Given the description of an element on the screen output the (x, y) to click on. 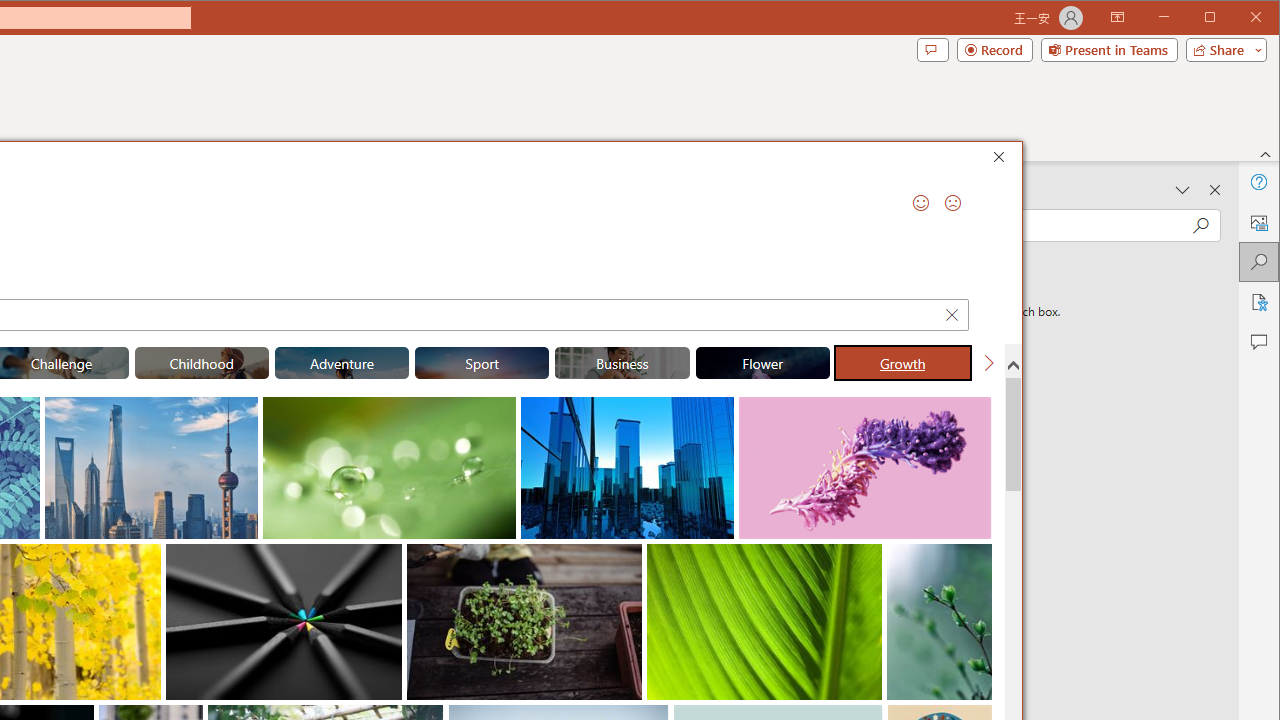
Accessibility (1258, 301)
Present in Teams (1108, 49)
Collapse the Ribbon (1266, 154)
Clear text (951, 314)
Alt Text (1258, 221)
Comments (1258, 341)
